Given the description of an element on the screen output the (x, y) to click on. 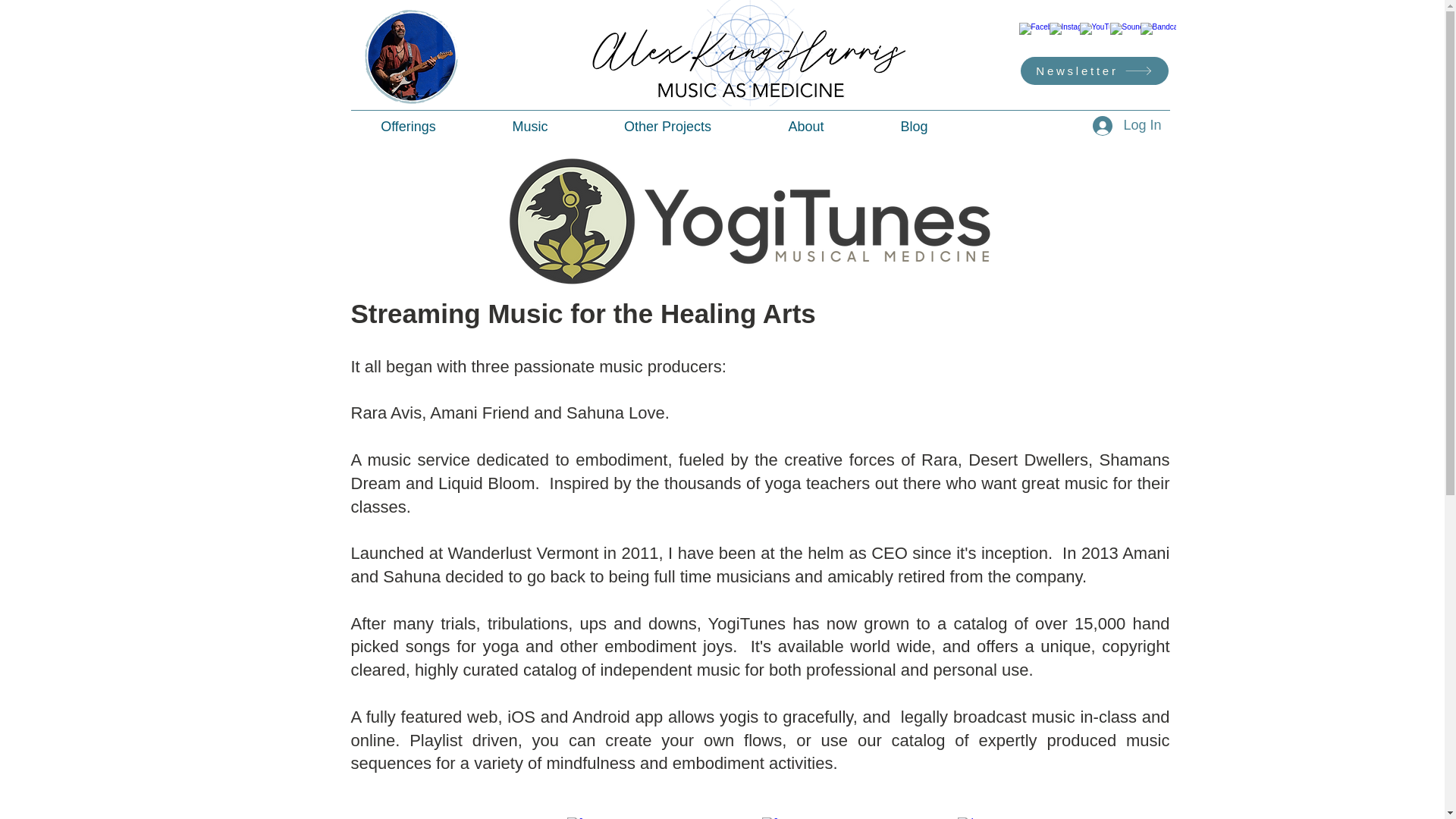
Newsletter (1094, 70)
Music (530, 126)
Log In (1126, 125)
Blog (914, 126)
